Given the description of an element on the screen output the (x, y) to click on. 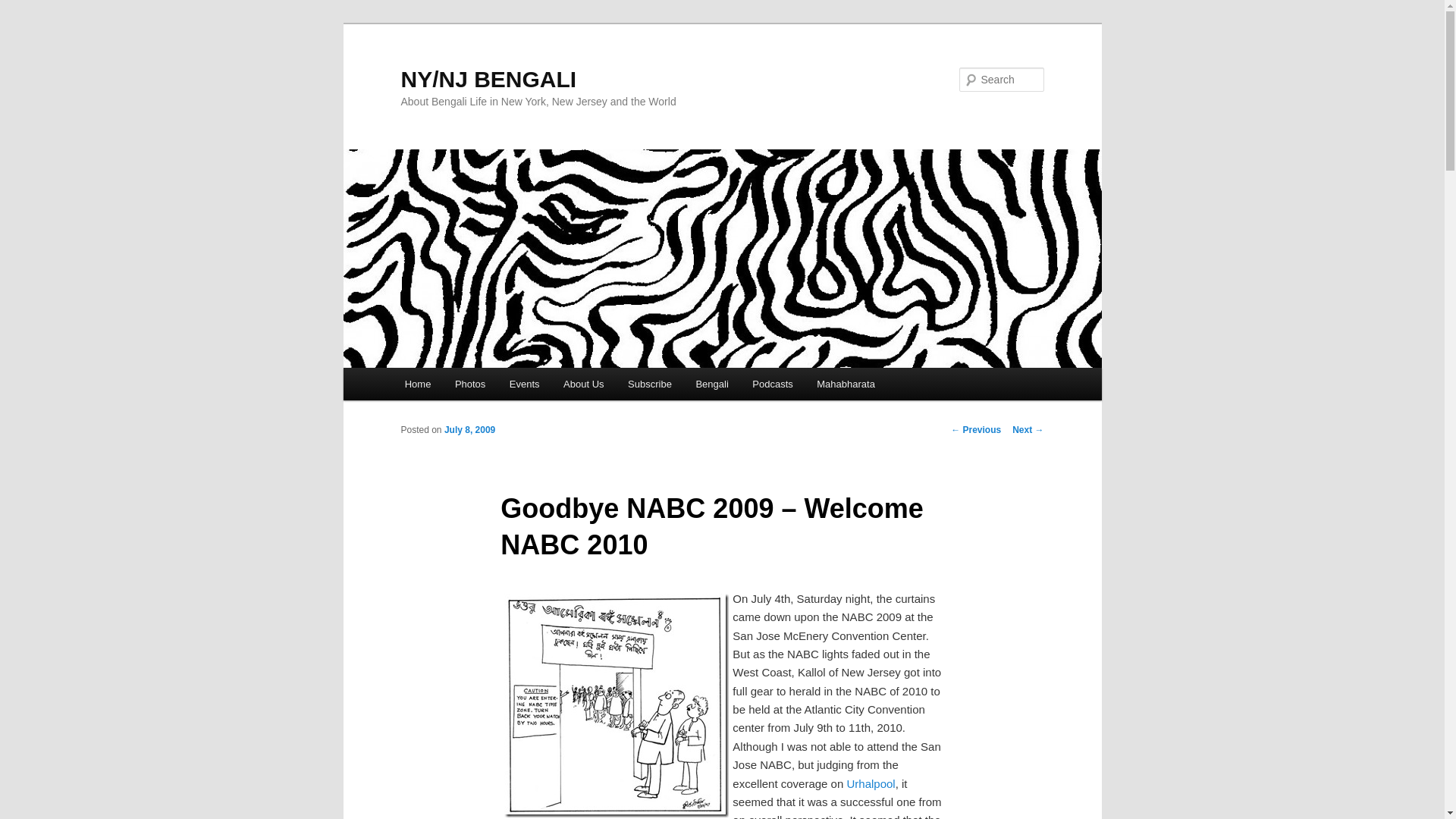
Home (417, 383)
Events (524, 383)
Photos (469, 383)
Subscribe (648, 383)
NABC Time Zone (616, 705)
2:25 pm (469, 429)
About Us (583, 383)
Mahabharata (845, 383)
Podcasts (773, 383)
